Given the description of an element on the screen output the (x, y) to click on. 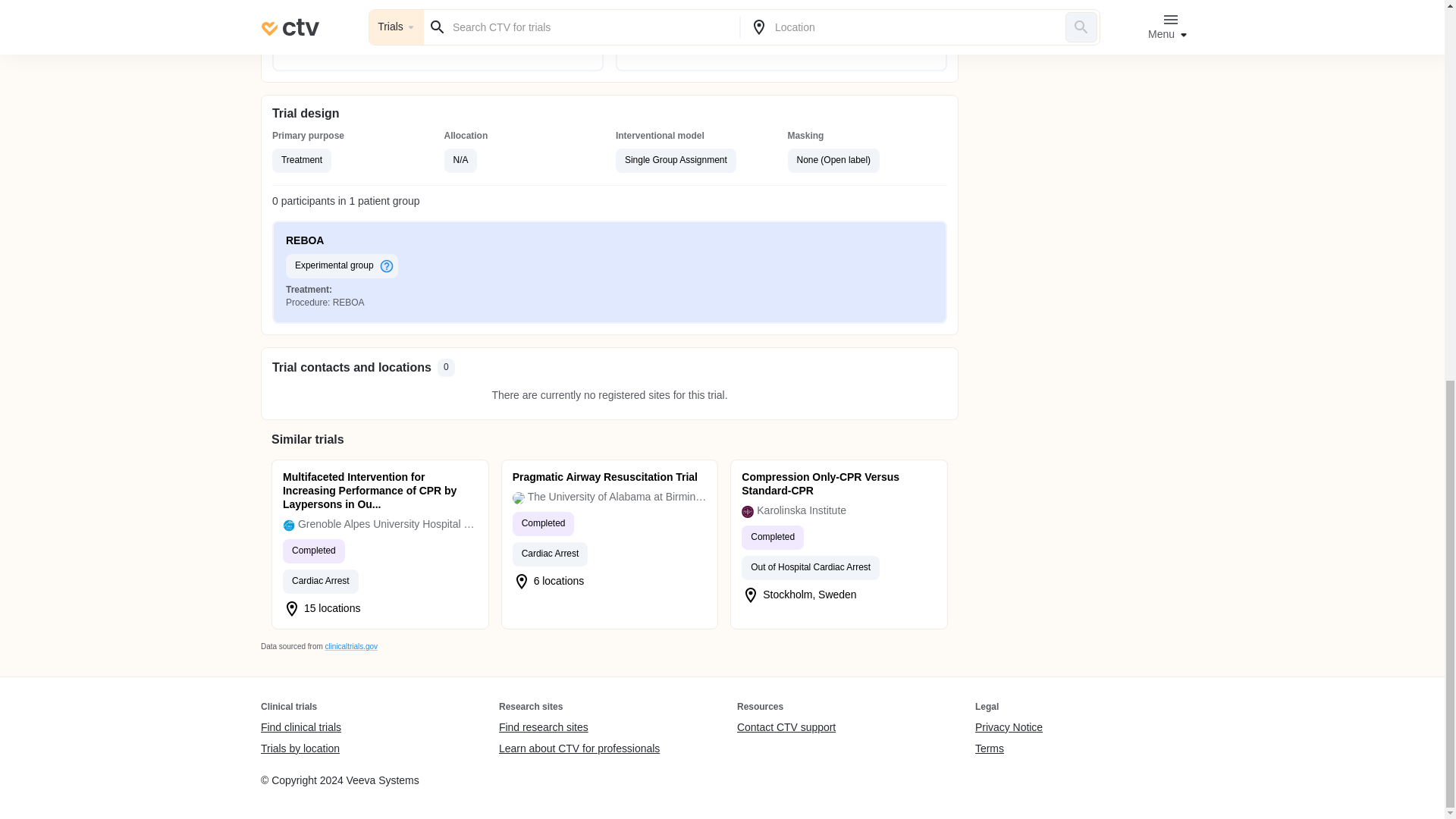
Find research sites (579, 727)
Terms (1008, 748)
Find clinical trials (300, 727)
clinicaltrials.gov (350, 646)
Privacy Notice (1008, 727)
Learn about CTV for professionals (579, 748)
Contact CTV support (785, 727)
Trials by location (300, 748)
